Given the description of an element on the screen output the (x, y) to click on. 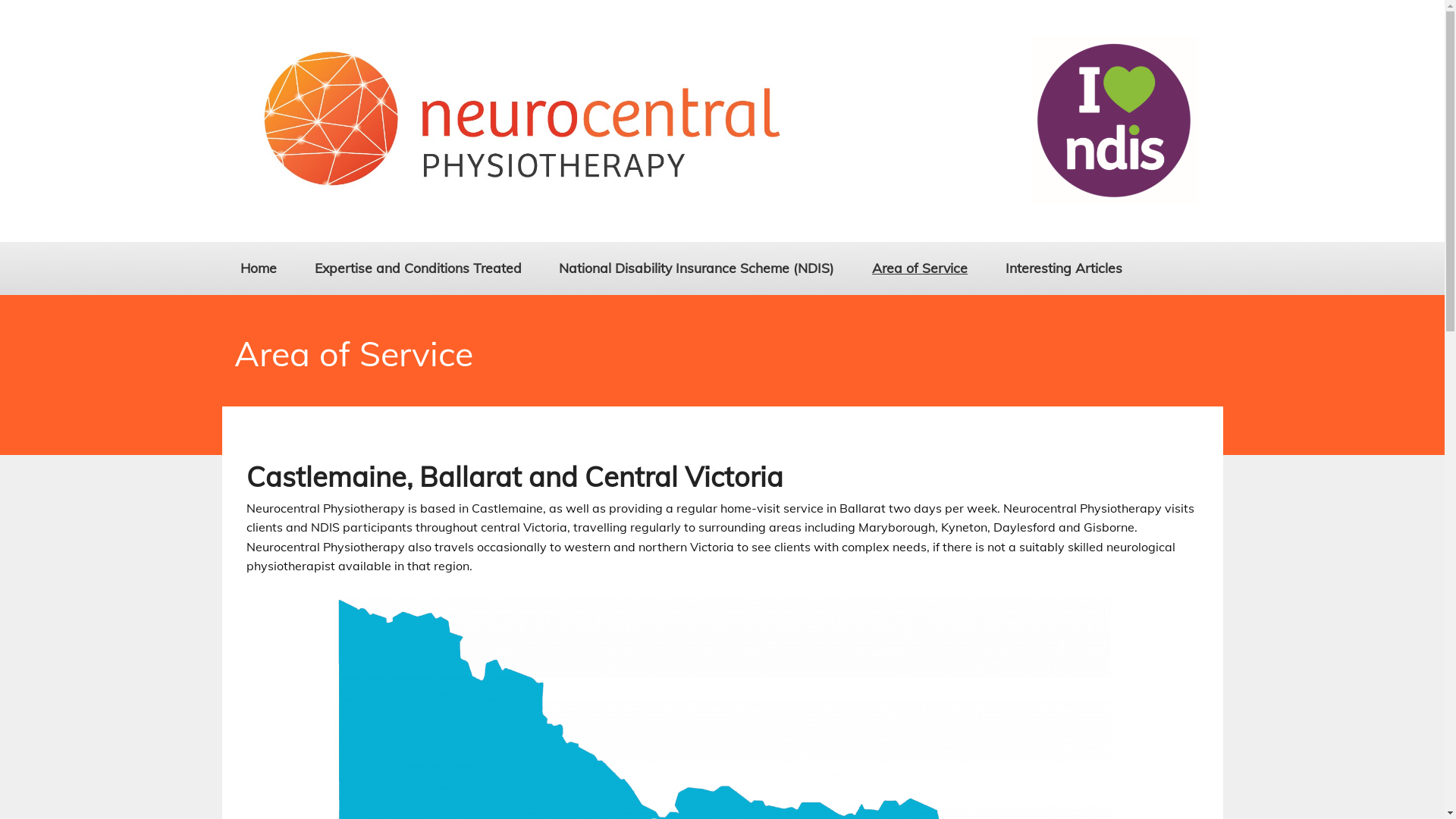
Interesting Articles Element type: text (1063, 267)
National Disability Insurance Scheme (NDIS) Element type: text (696, 267)
Expertise and Conditions Treated Element type: text (417, 267)
Home Element type: text (258, 267)
Area of Service Element type: text (919, 267)
Neurocentral Physiotherapy Element type: hover (721, 199)
